Given the description of an element on the screen output the (x, y) to click on. 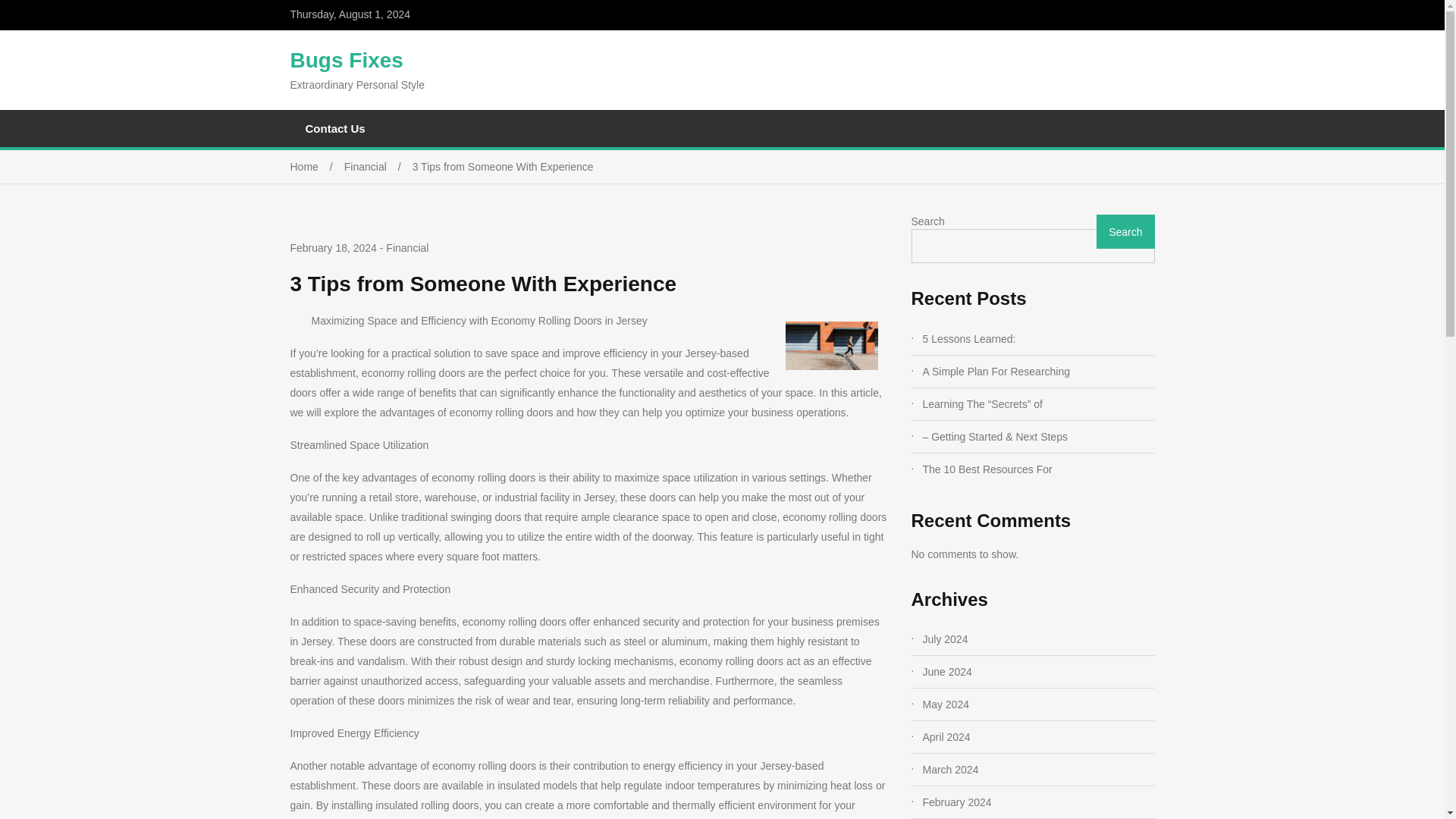
Search (1125, 231)
Bugs Fixes (346, 60)
Home (316, 166)
Financial (377, 166)
5 Lessons Learned: (1037, 338)
Financial (406, 247)
February 18, 2024 (332, 248)
Contact Us (334, 128)
A Simple Plan For Researching (1037, 371)
